Given the description of an element on the screen output the (x, y) to click on. 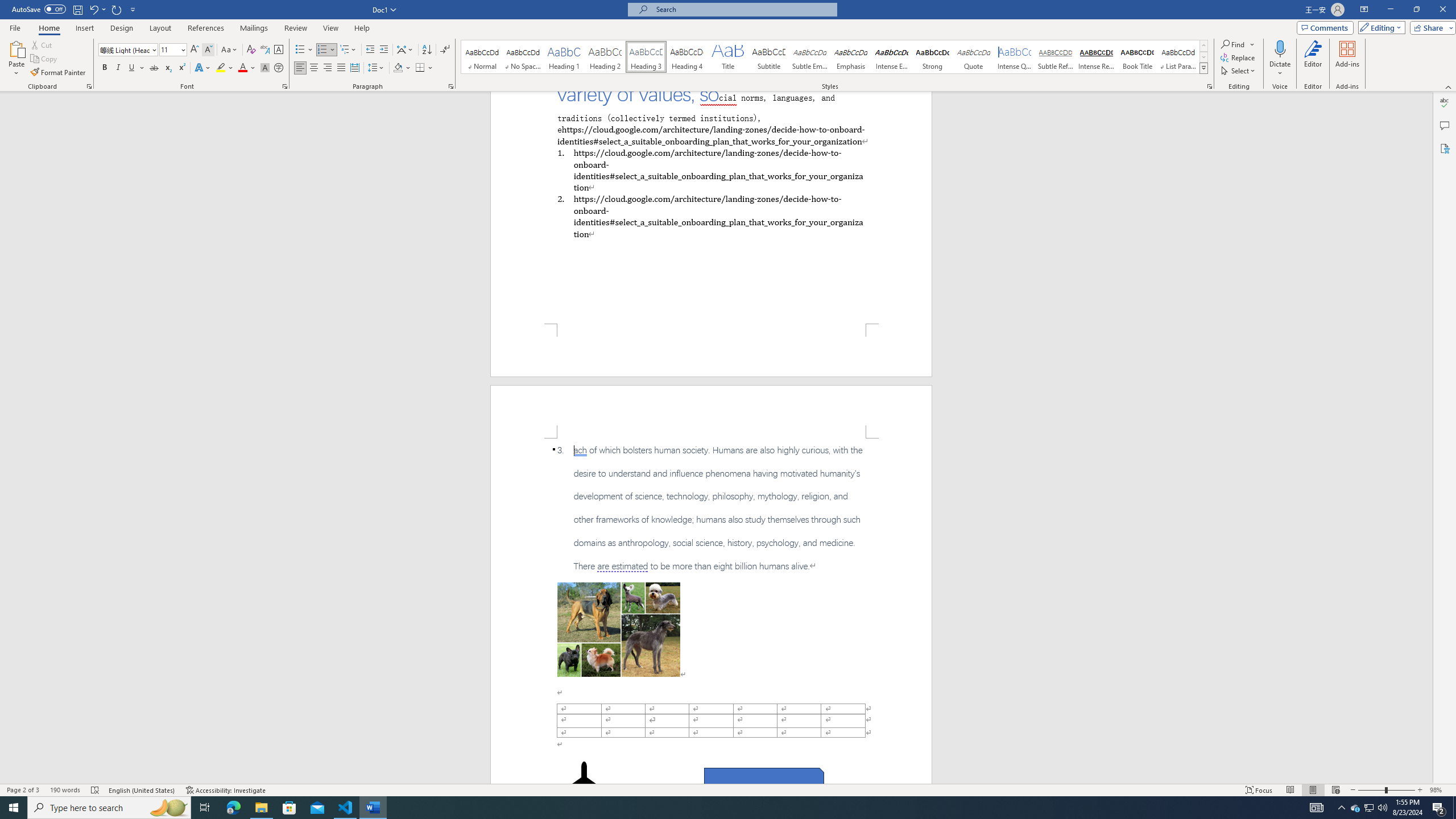
Class: NetUIScrollBar (1427, 437)
Change Case (229, 49)
Text Effects and Typography (202, 67)
Copy (45, 58)
Undo Paragraph Alignment (96, 9)
Header -Section 1- (710, 411)
Page Number Page 2 of 3 (22, 790)
Phonetic Guide... (264, 49)
Intense Reference (1095, 56)
